Given the description of an element on the screen output the (x, y) to click on. 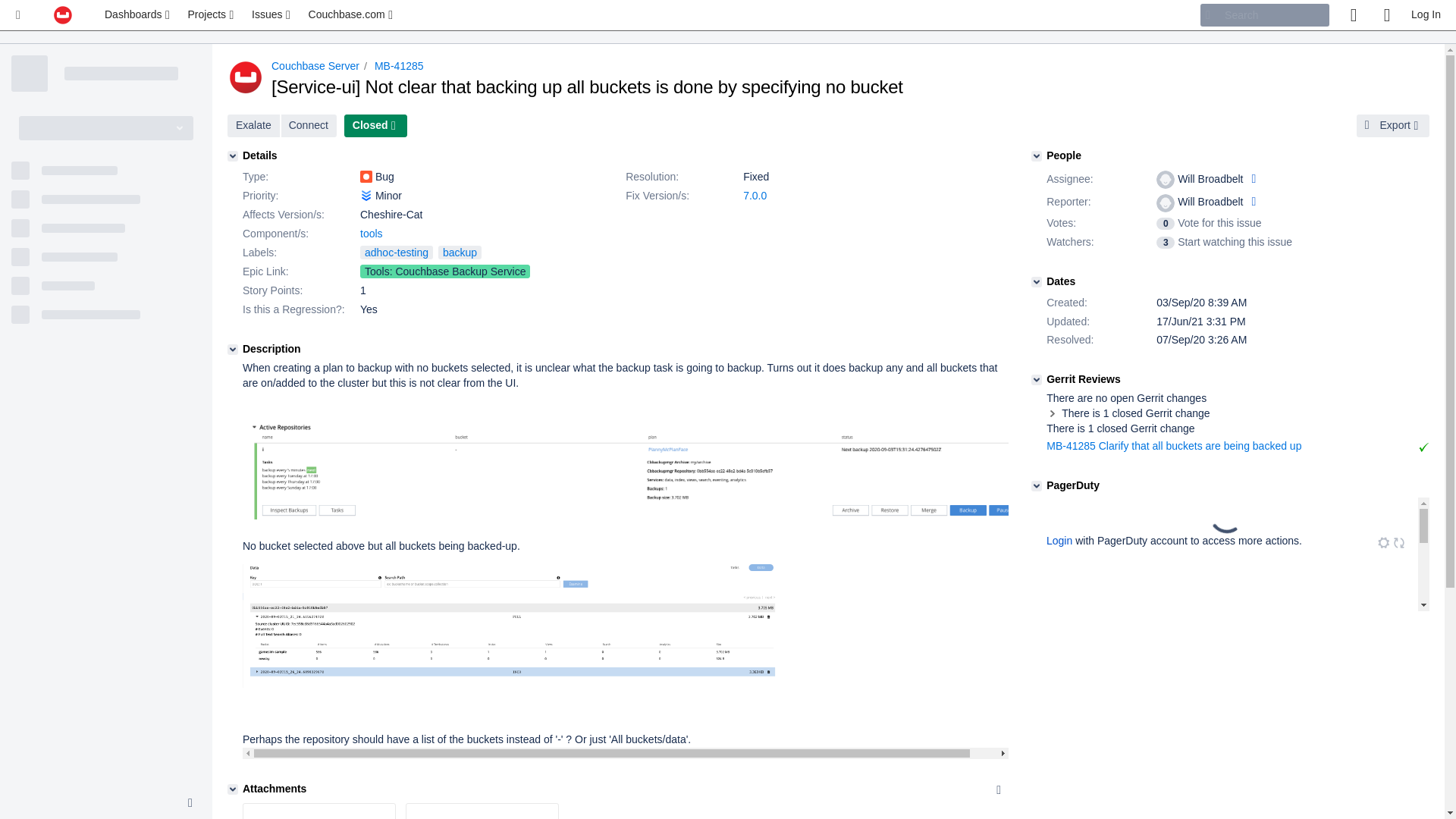
Search for issues and view recent issues (271, 15)
Give feedback to Atlassian (1353, 15)
Export (1392, 125)
7.0.0  (754, 195)
Dashboards (138, 15)
Issues (271, 15)
View recent projects and browse a list of projects (212, 15)
Couchbase.com (352, 15)
Export this issue in another format (1392, 125)
tools (370, 233)
